Given the description of an element on the screen output the (x, y) to click on. 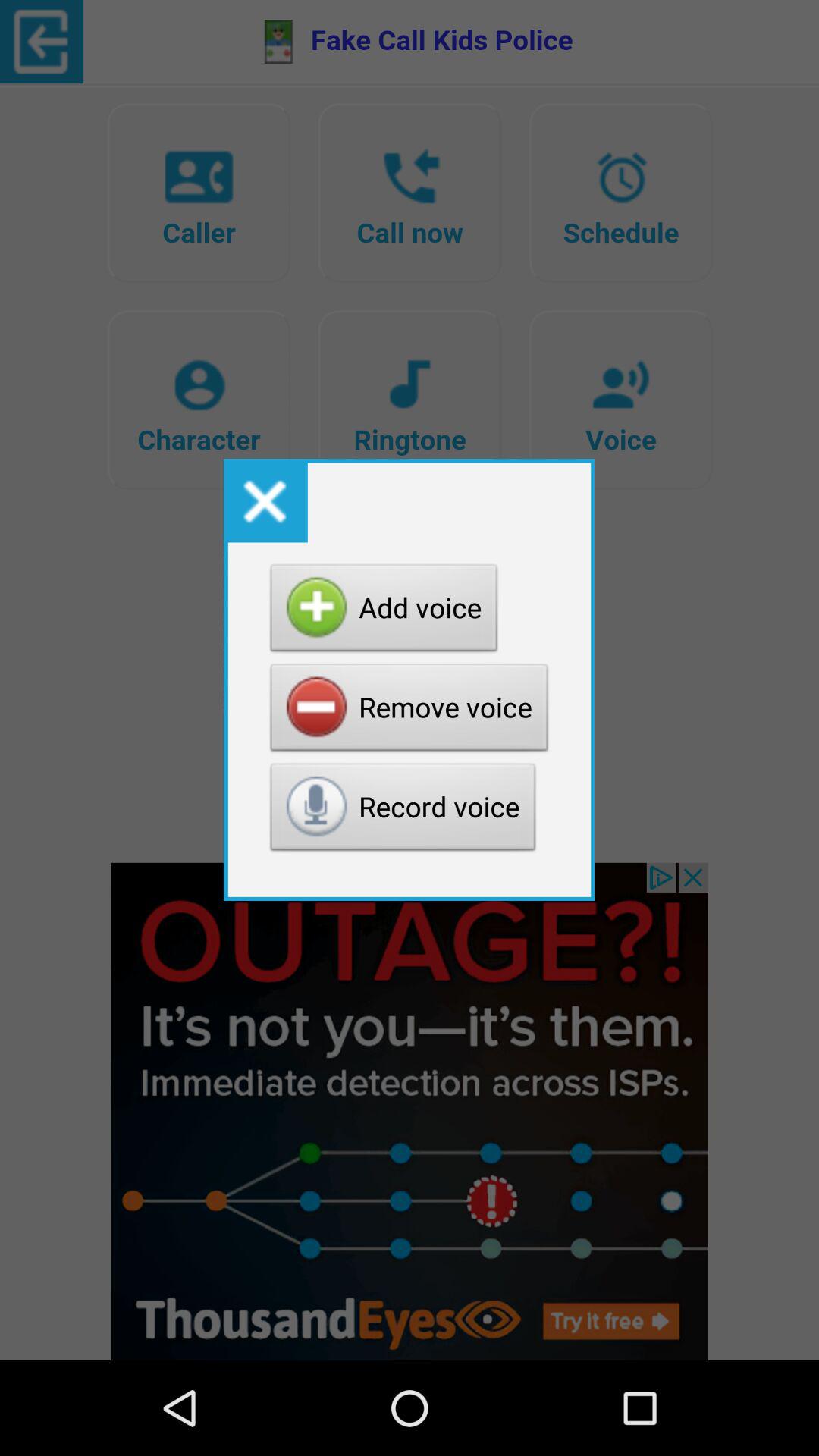
jump to add voice item (383, 612)
